Given the description of an element on the screen output the (x, y) to click on. 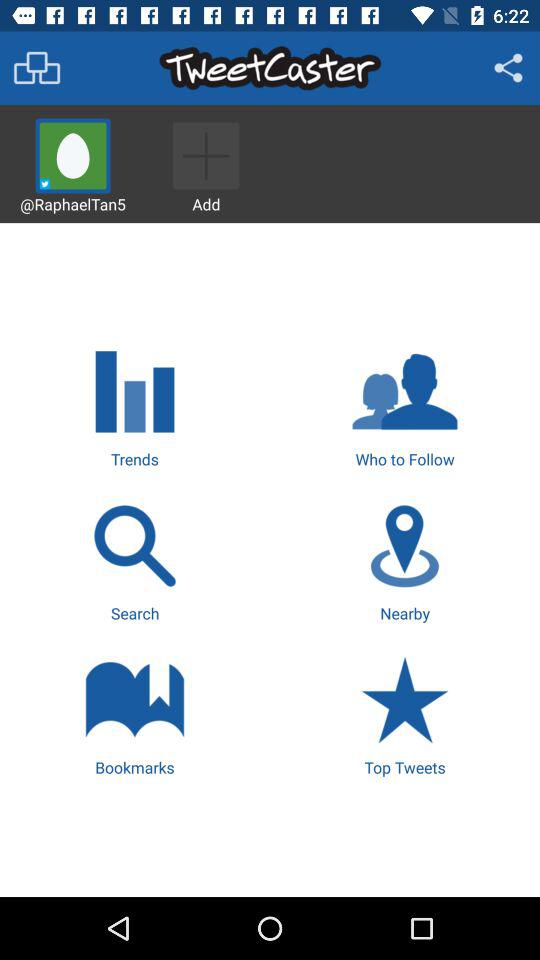
flip until the bookmarks icon (134, 714)
